Given the description of an element on the screen output the (x, y) to click on. 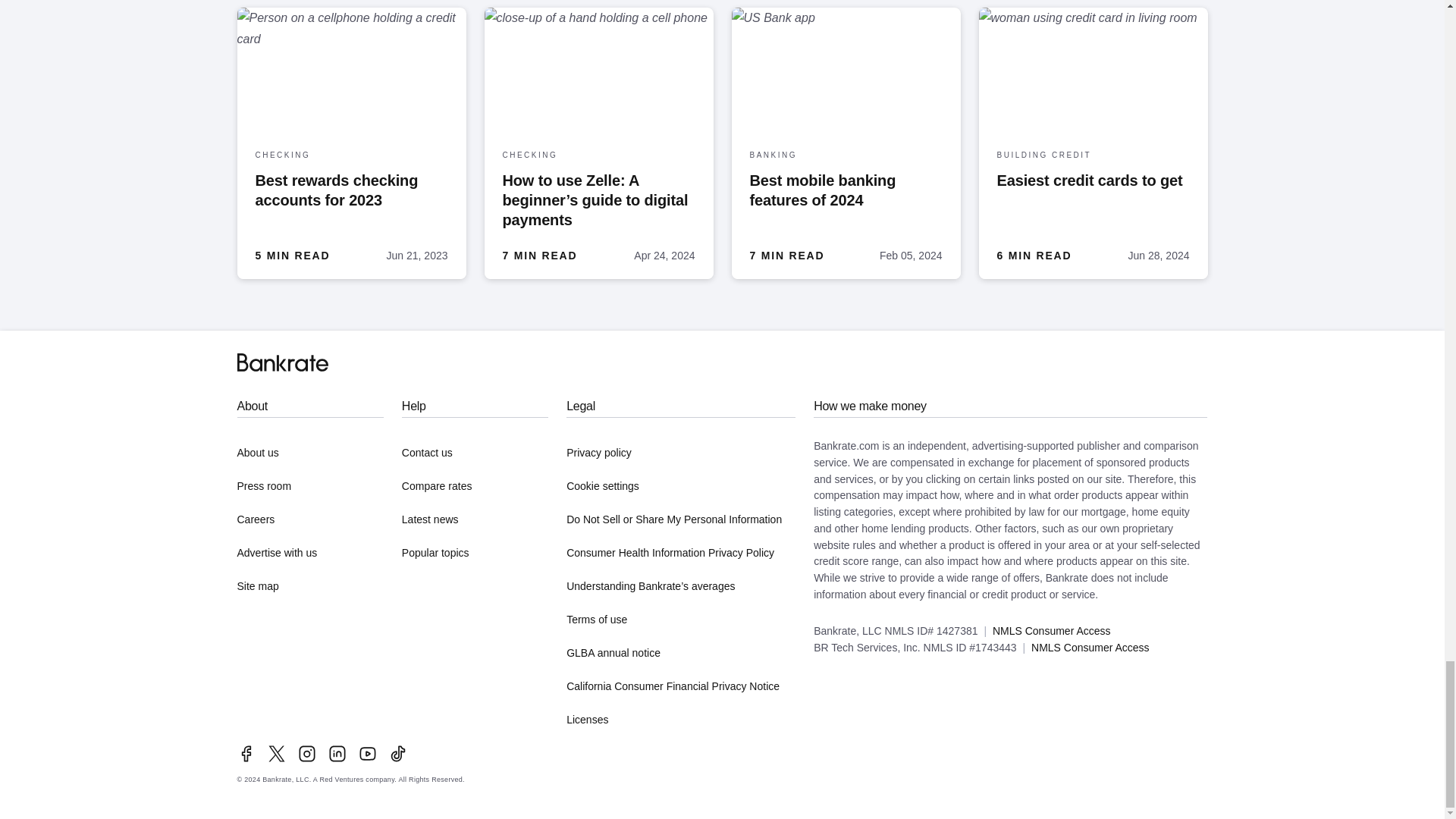
TikTok logo (397, 753)
Twitter logo (275, 753)
Facebook logo (244, 753)
LinkedIn logo (336, 753)
YouTube logo (366, 753)
Instagram logo (306, 753)
Bankrate (281, 361)
